Given the description of an element on the screen output the (x, y) to click on. 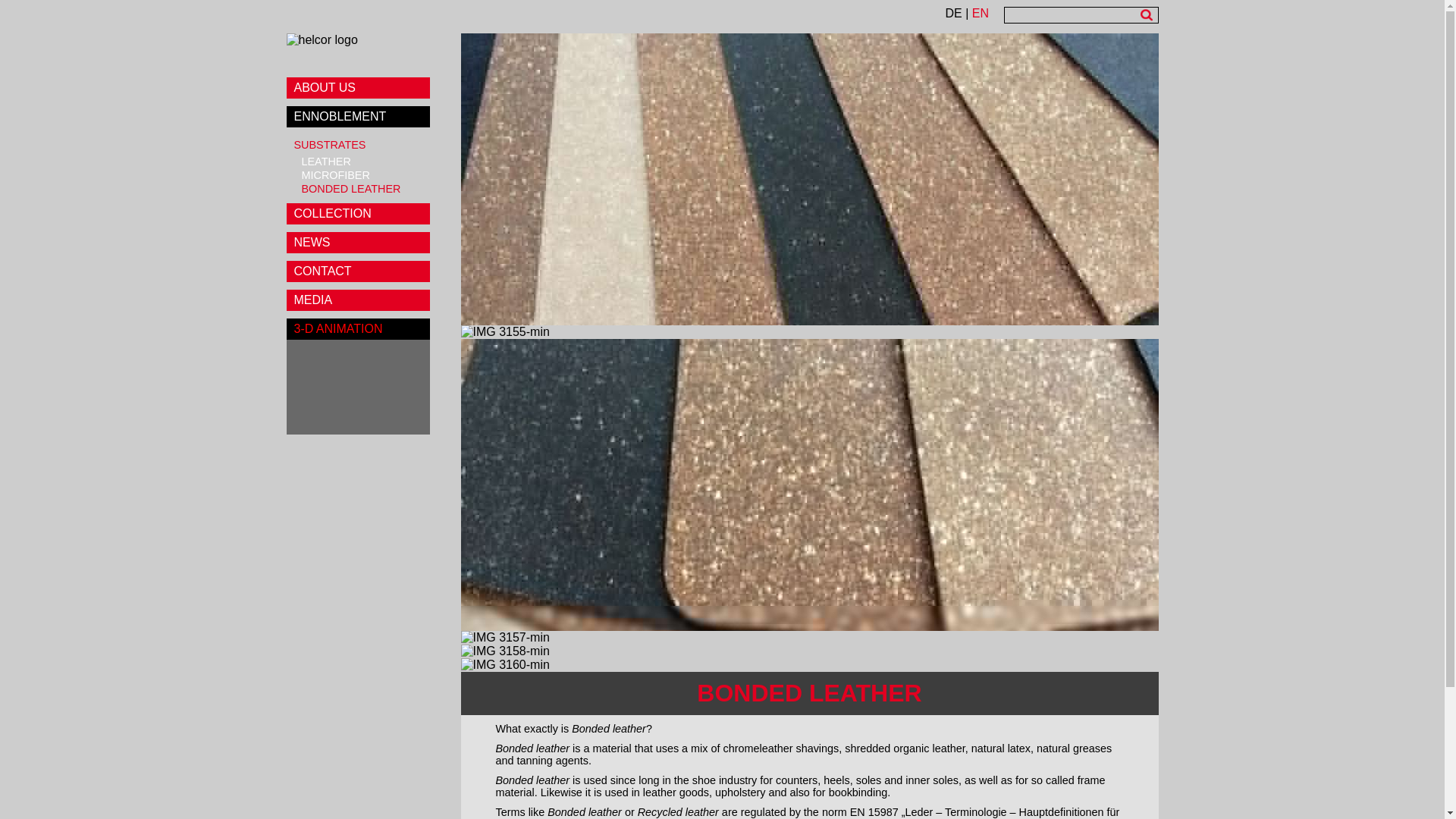
About Us (1240, 9)
DE (953, 12)
Lederfaserstoff (953, 12)
About Us (1240, 9)
senden (1145, 14)
